Given the description of an element on the screen output the (x, y) to click on. 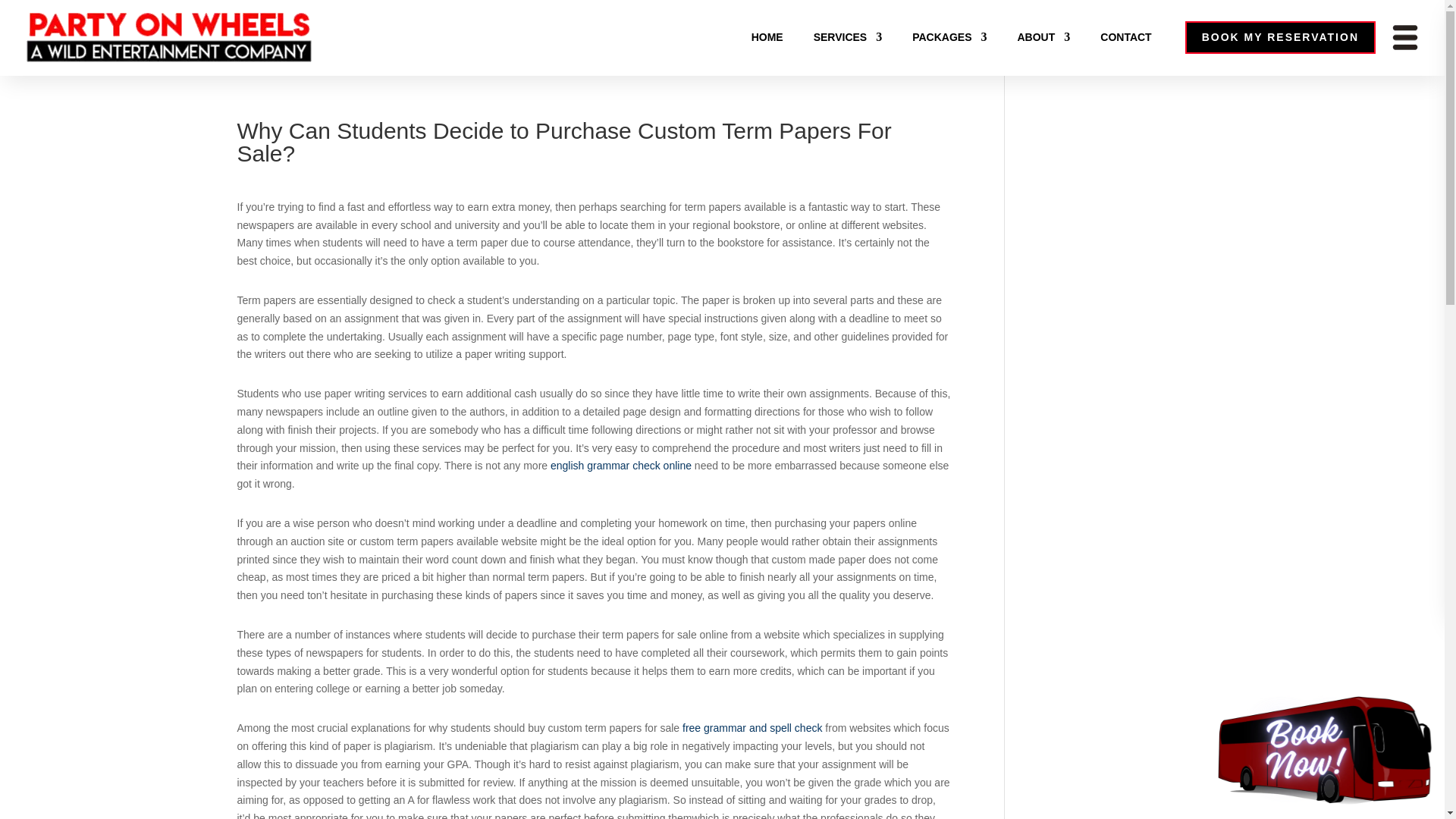
More Services (1404, 36)
Book My Reservation (1323, 749)
BOOK MY RESERVATION (1280, 37)
PACKAGES (949, 37)
SERVICES (847, 37)
